Given the description of an element on the screen output the (x, y) to click on. 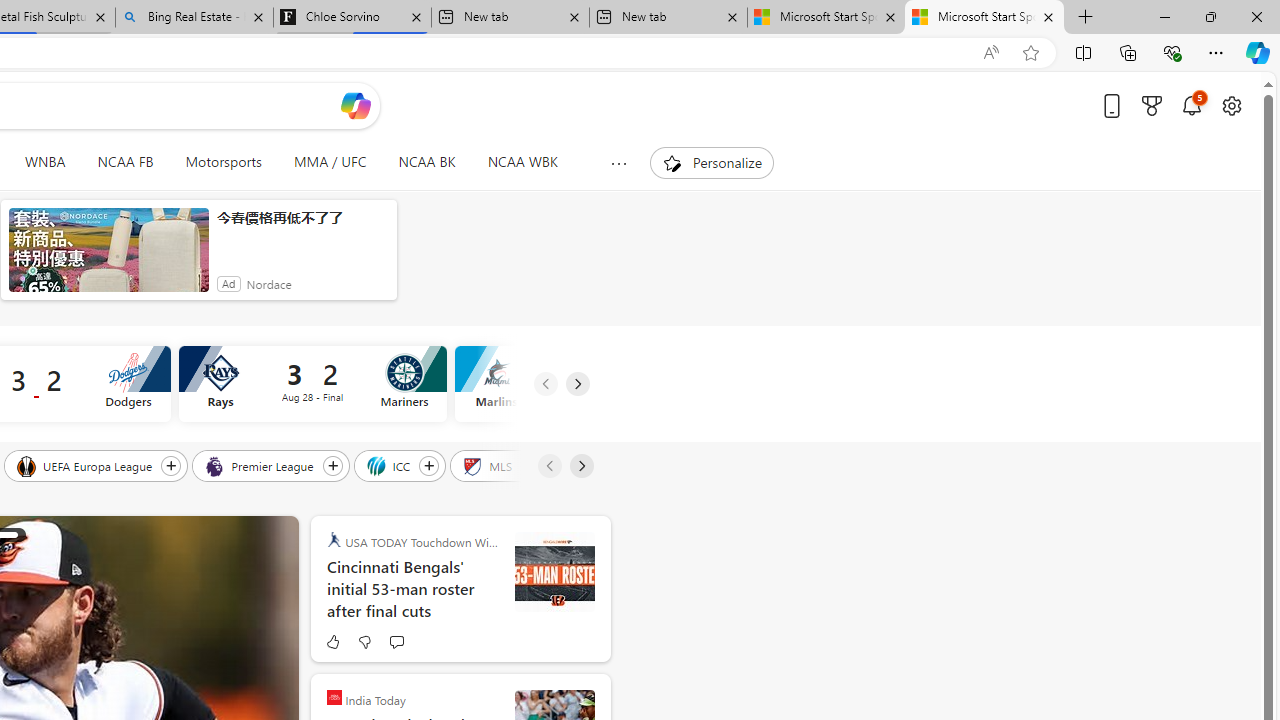
Follow Premier League (332, 465)
NCAA WBK (522, 162)
To get missing image descriptions, open the context menu. (671, 162)
Previous (548, 465)
India Today (333, 696)
Follow UEFA Europa League (171, 465)
Start the conversation (395, 642)
Open Copilot (355, 105)
NCAA BK (426, 162)
USA TODAY Touchdown Wire (333, 539)
